Given the description of an element on the screen output the (x, y) to click on. 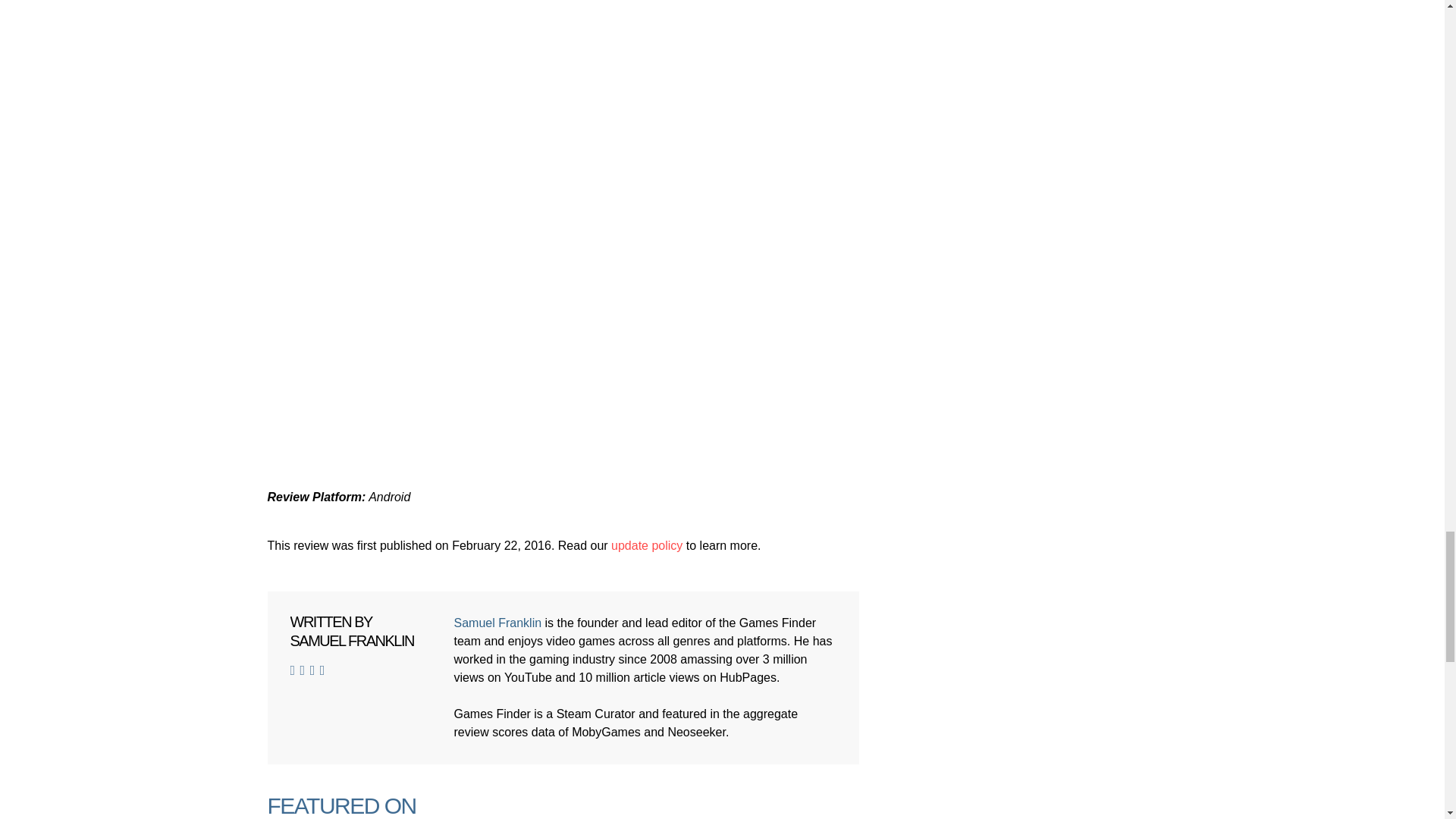
update policy (646, 545)
Samuel Franklin (496, 622)
